Given the description of an element on the screen output the (x, y) to click on. 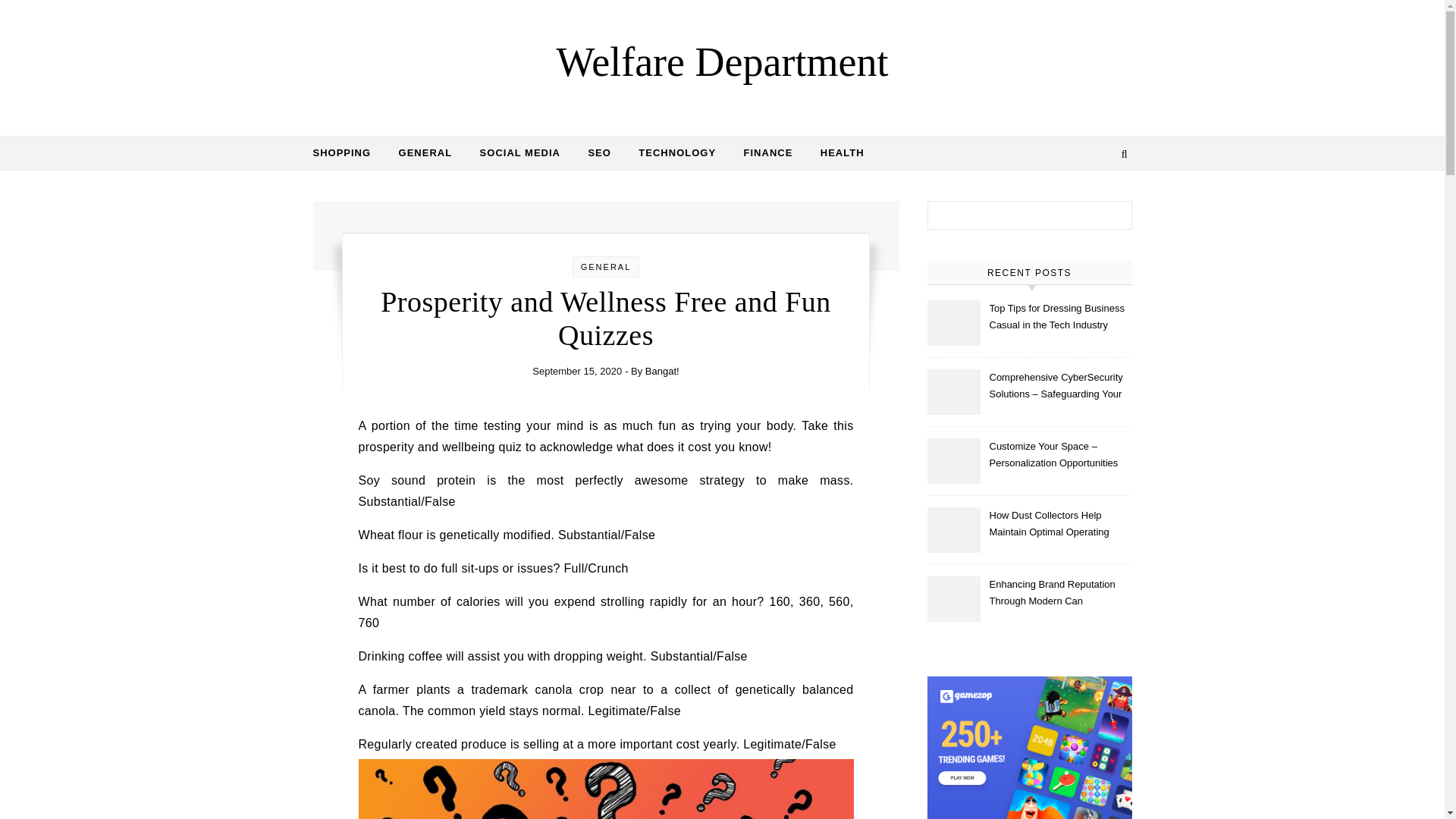
GENERAL (605, 266)
HEALTH (836, 152)
Bangat! (662, 370)
SHOPPING (347, 152)
GENERAL (425, 152)
Posts by Bangat! (662, 370)
SOCIAL MEDIA (519, 152)
Search (1104, 217)
